Given the description of an element on the screen output the (x, y) to click on. 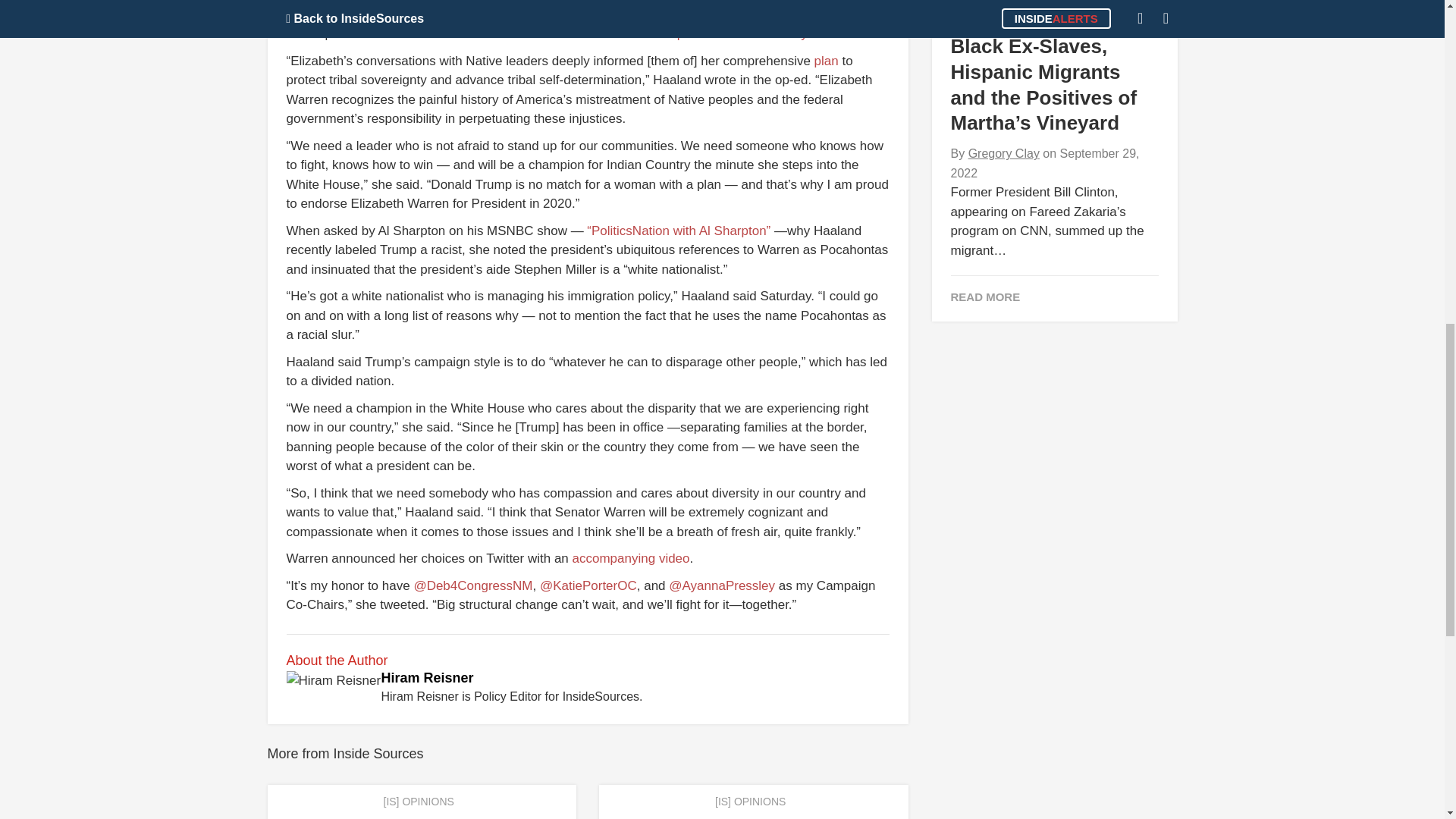
Elizabeth Warren Is a Champion for Indian Country. (662, 33)
Hiram Reisner (426, 677)
Hiram Reisner (426, 677)
accompanying video (631, 558)
Posts by Gregory Clay (1003, 153)
plan (825, 60)
